Given the description of an element on the screen output the (x, y) to click on. 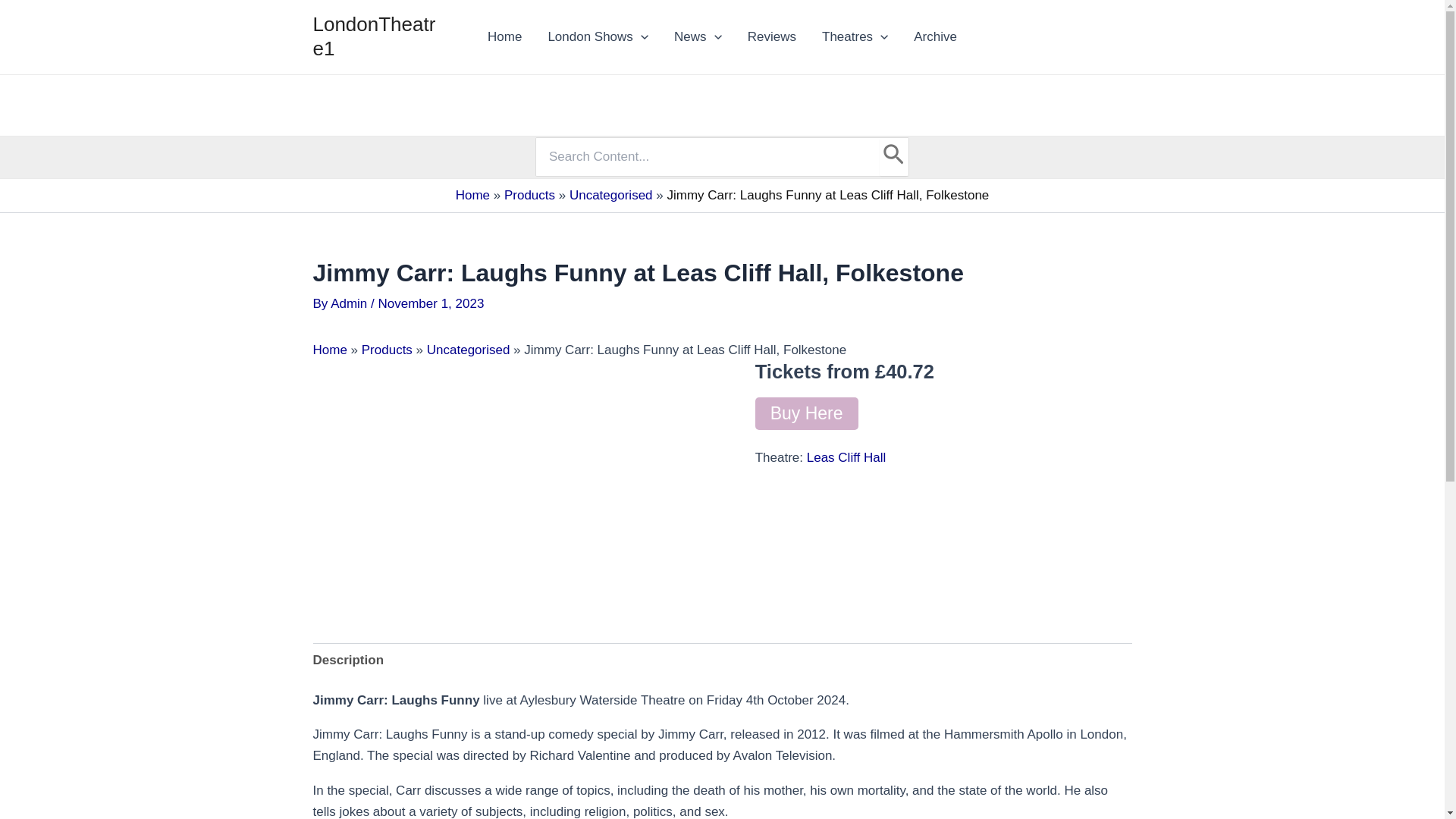
LondonTheatre1 (374, 36)
Reviews (772, 37)
London Theatre Reviews (772, 37)
Theatres (855, 37)
Home (504, 37)
London Shows (597, 37)
Home (504, 37)
News (698, 37)
Archive (935, 37)
View all posts by Admin (350, 303)
